Given the description of an element on the screen output the (x, y) to click on. 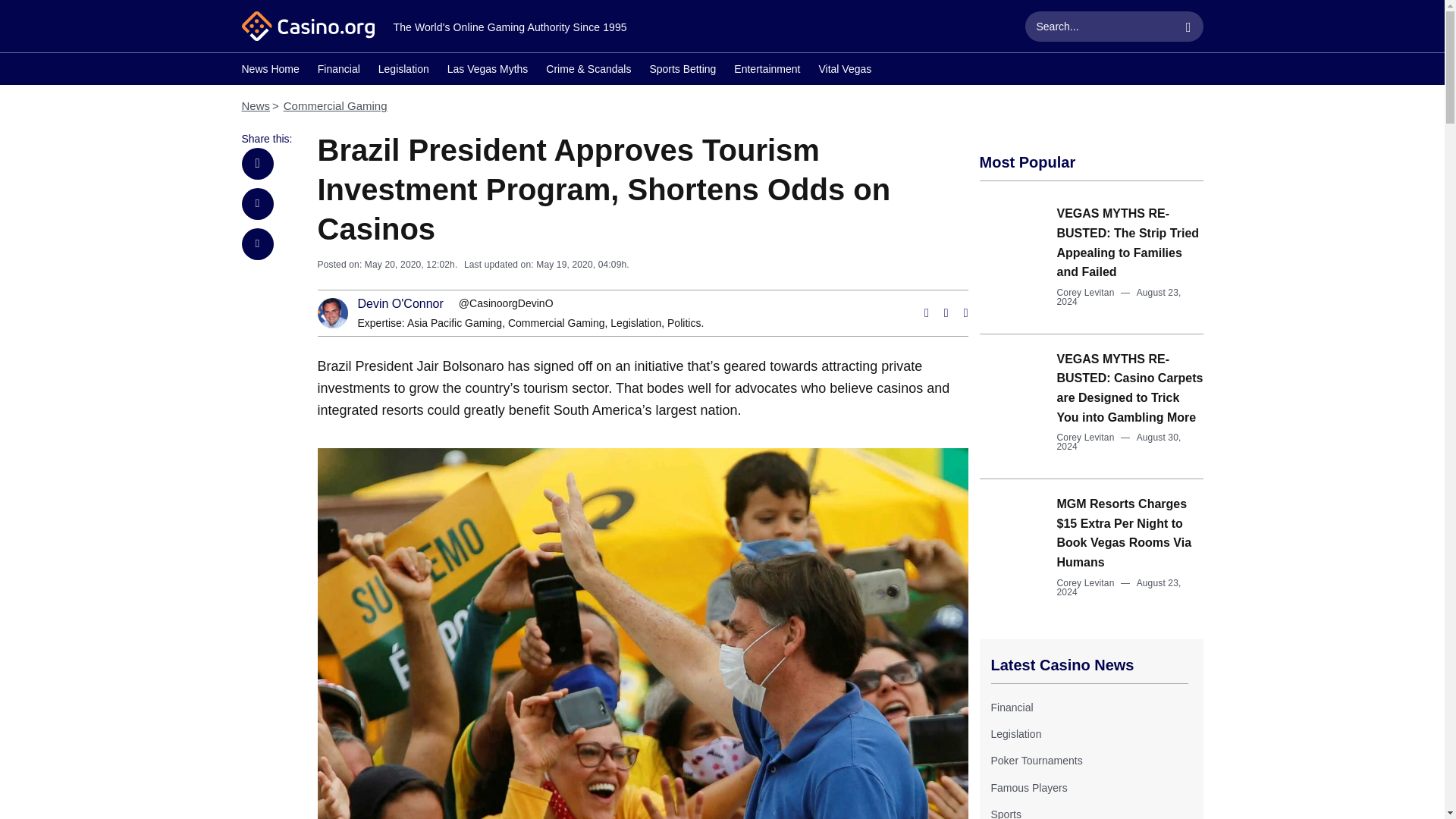
Legislation (635, 322)
Corey Levitan (1086, 292)
Legislation (1015, 734)
Commercial Gaming (335, 105)
Corey Levitan (1086, 437)
Corey Levitan (1086, 583)
Las Vegas Myths (487, 70)
Financial (1011, 707)
Legislation (635, 322)
Legislation (403, 70)
